Given the description of an element on the screen output the (x, y) to click on. 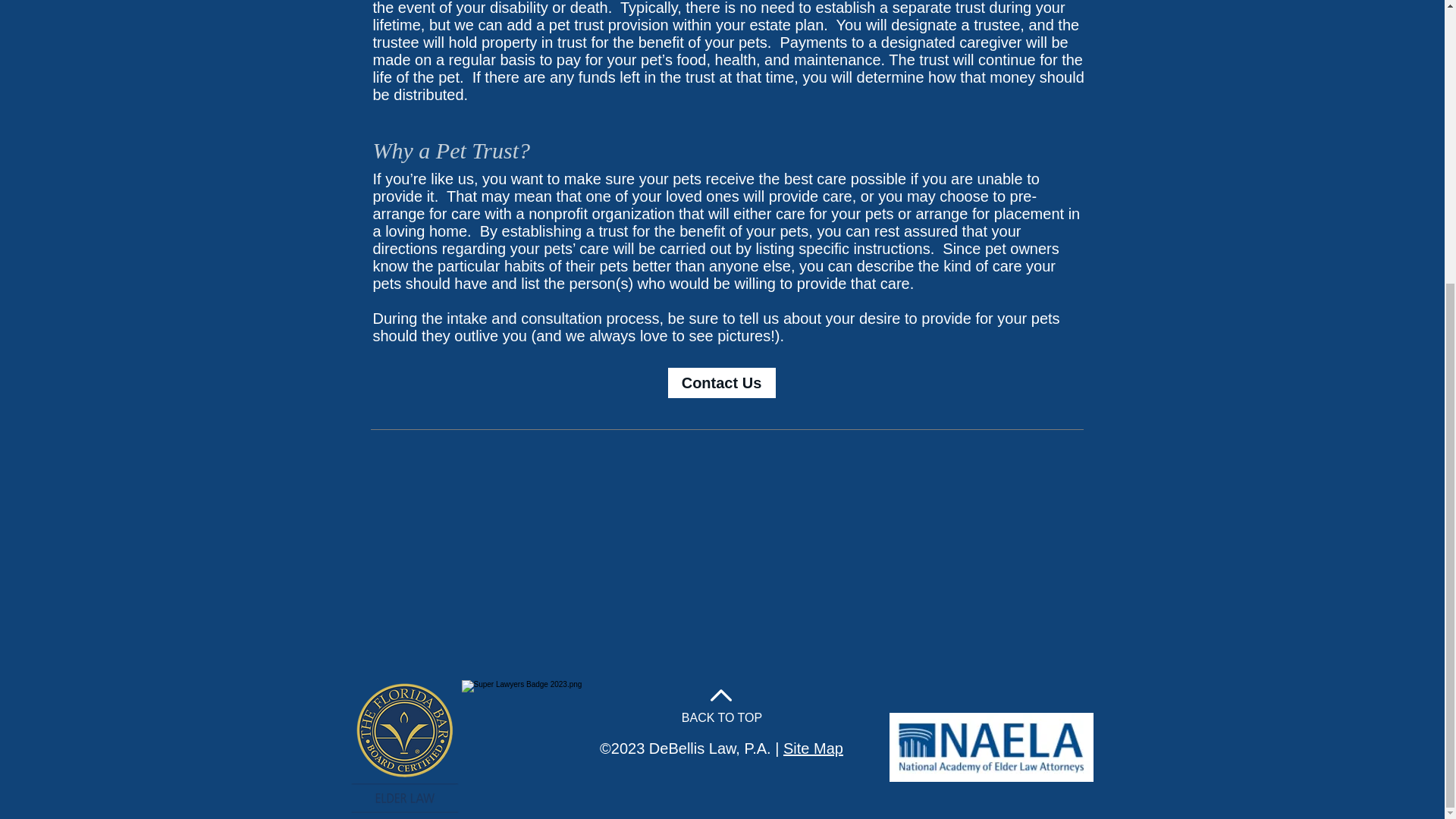
Contact Us (720, 382)
BACK TO TOP (721, 717)
Site Map (813, 748)
